Given the description of an element on the screen output the (x, y) to click on. 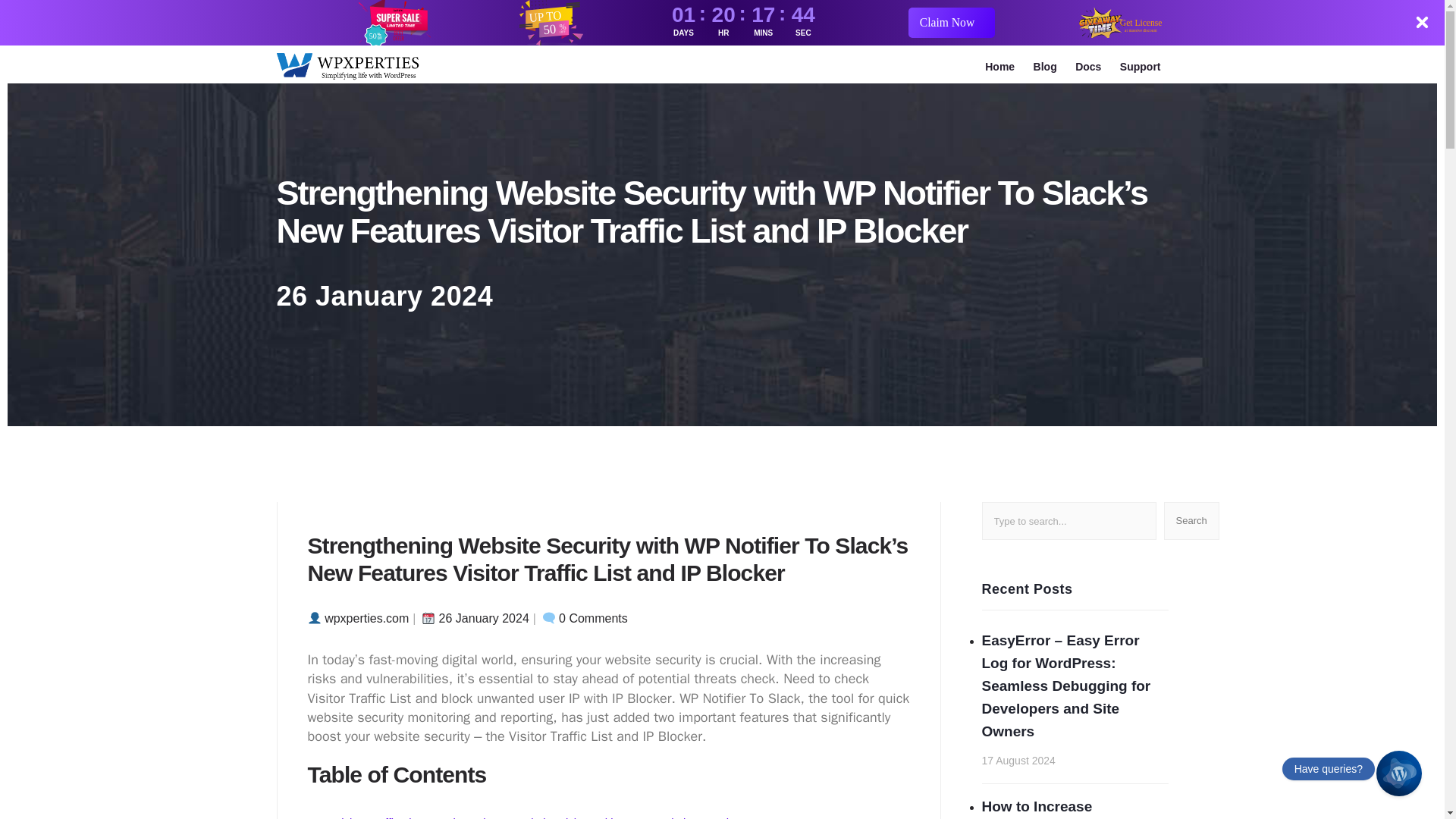
Home (999, 66)
Support (1140, 66)
Docs (1087, 66)
Search (1190, 520)
Go to WPXperties Home (347, 66)
Search (1190, 520)
Search (1190, 520)
Blog (1045, 66)
